Given the description of an element on the screen output the (x, y) to click on. 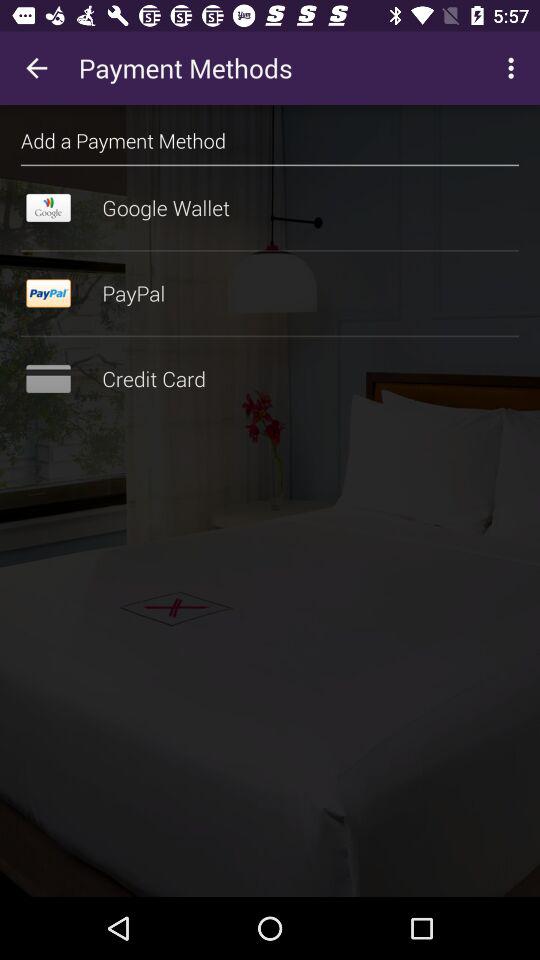
jump until the paypal icon (270, 293)
